Given the description of an element on the screen output the (x, y) to click on. 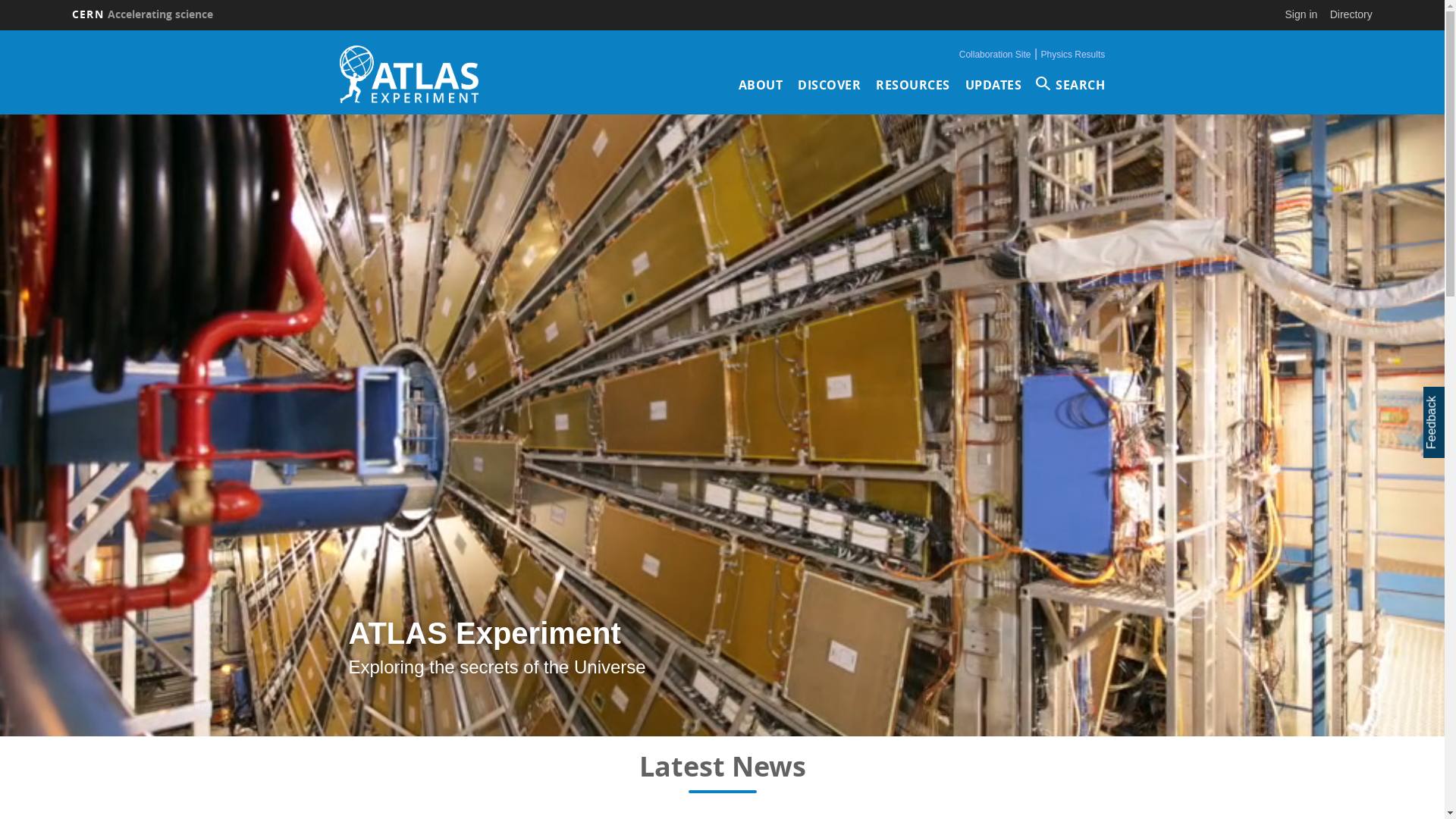
CERN Accelerating science Element type: text (142, 14)
SEARCH Element type: text (1070, 84)
Physics Results Element type: text (1073, 54)
DISCOVER Element type: text (828, 84)
ABOUT Element type: text (760, 84)
Skip to main content Element type: text (0, 30)
Directory Element type: text (1351, 14)
Sign in Element type: text (1301, 14)
UPDATES Element type: text (993, 84)
Collaboration Site Element type: text (995, 54)
RESOURCES Element type: text (912, 84)
Home Element type: hover (408, 74)
